Given the description of an element on the screen output the (x, y) to click on. 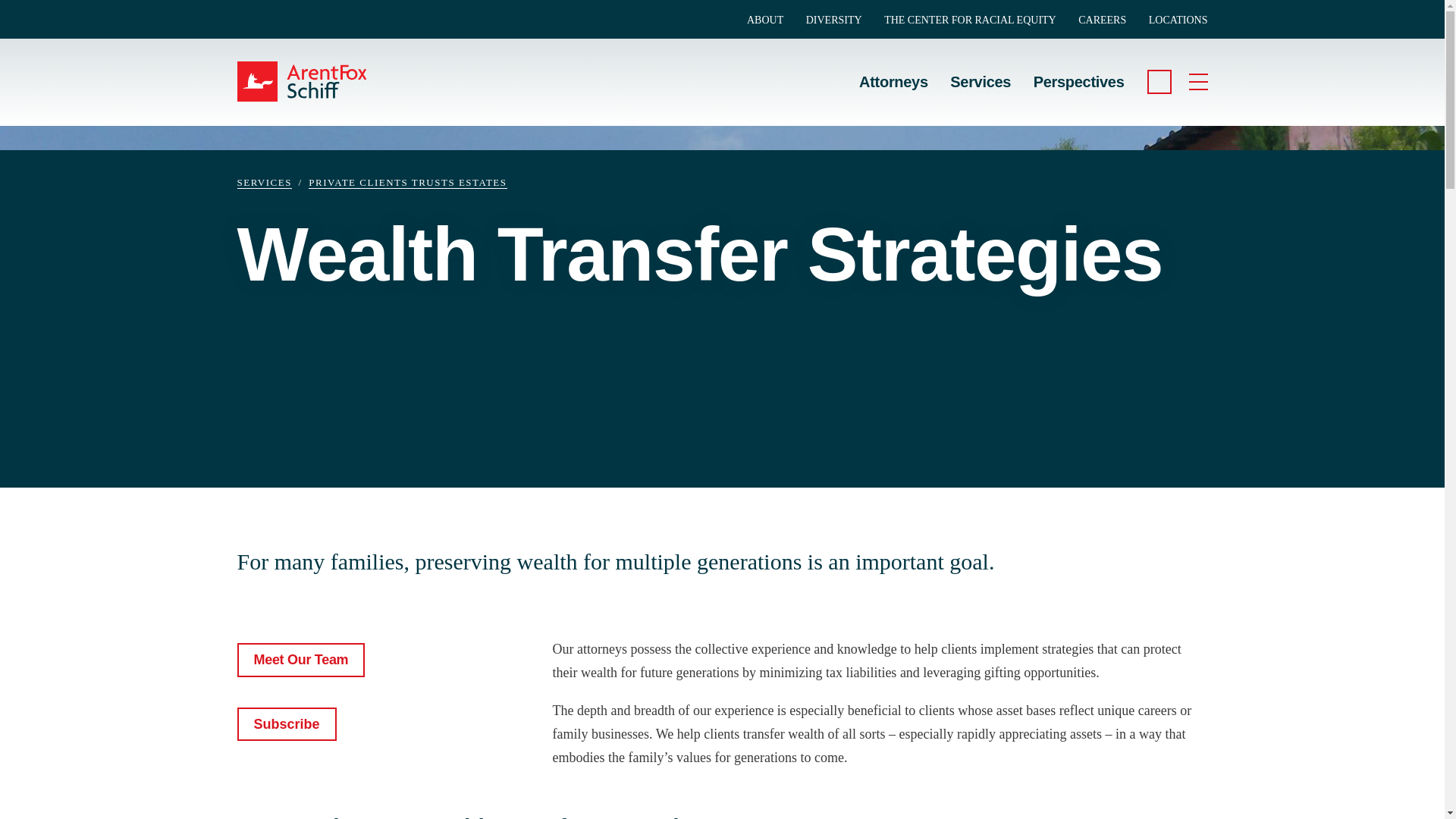
THE CENTER FOR RACIAL EQUITY (970, 20)
Services (980, 70)
CAREERS (1101, 20)
Perspectives (1078, 70)
ABOUT (764, 20)
DIVERSITY (833, 20)
LOCATIONS (1178, 20)
Home (319, 81)
Attorneys (893, 70)
Search the Site (1158, 81)
